Given the description of an element on the screen output the (x, y) to click on. 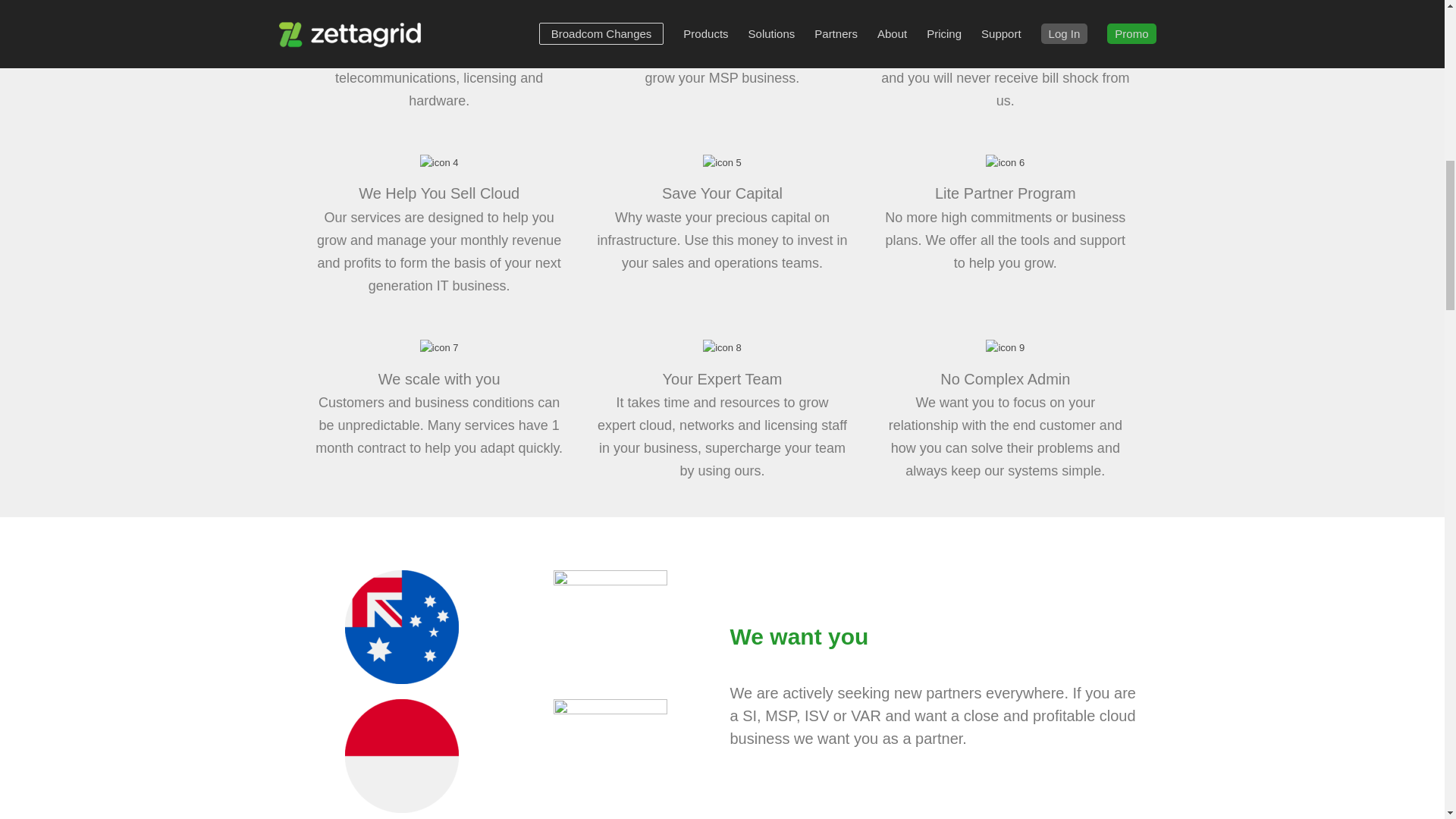
icon 6 (1005, 162)
icon 5 (722, 162)
icon 9 (1005, 347)
icon 4 (439, 162)
icon 8 (722, 347)
icon 7 (439, 347)
